Given the description of an element on the screen output the (x, y) to click on. 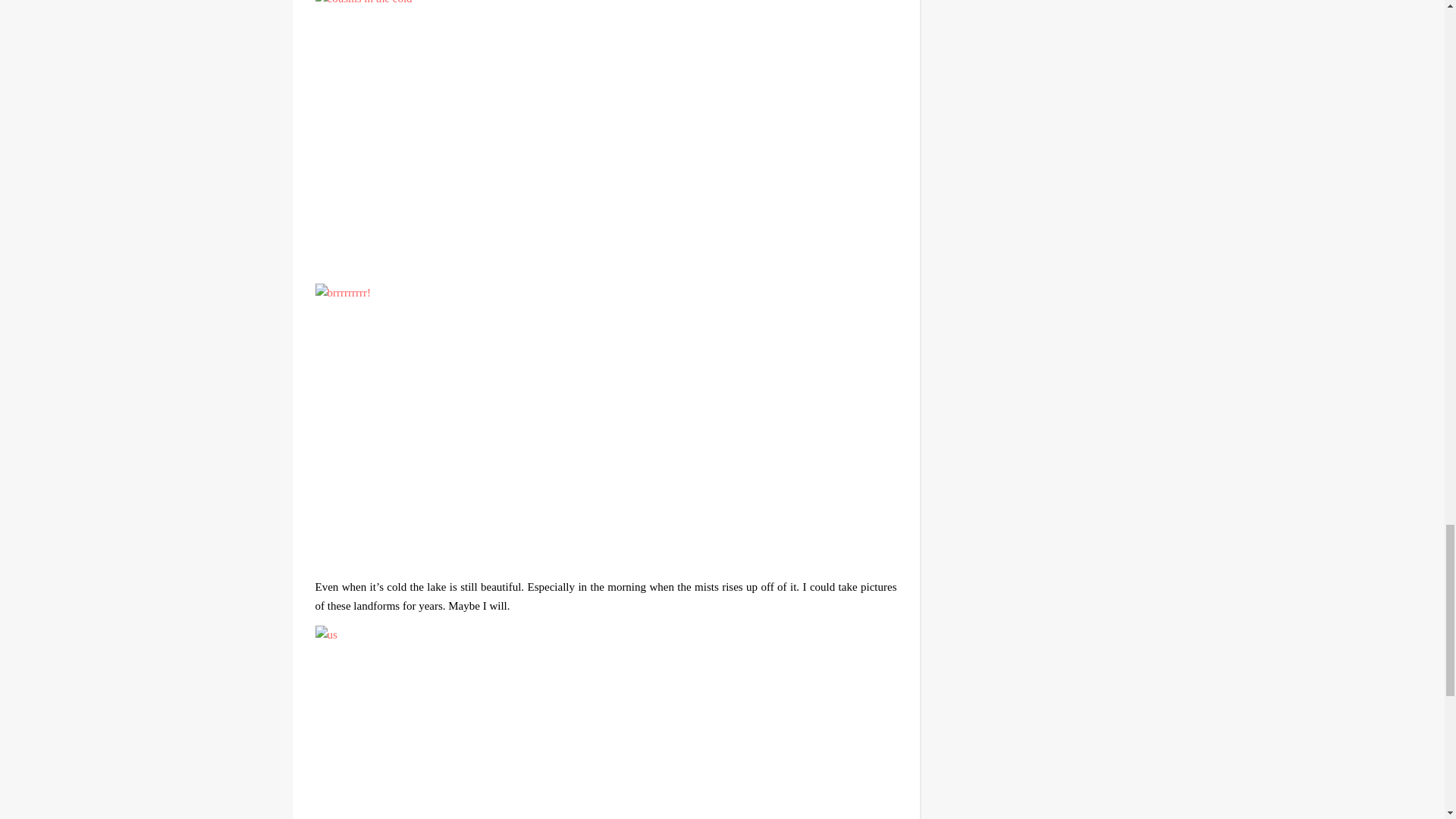
us by secret agent josephine, on Flickr (605, 722)
